Given the description of an element on the screen output the (x, y) to click on. 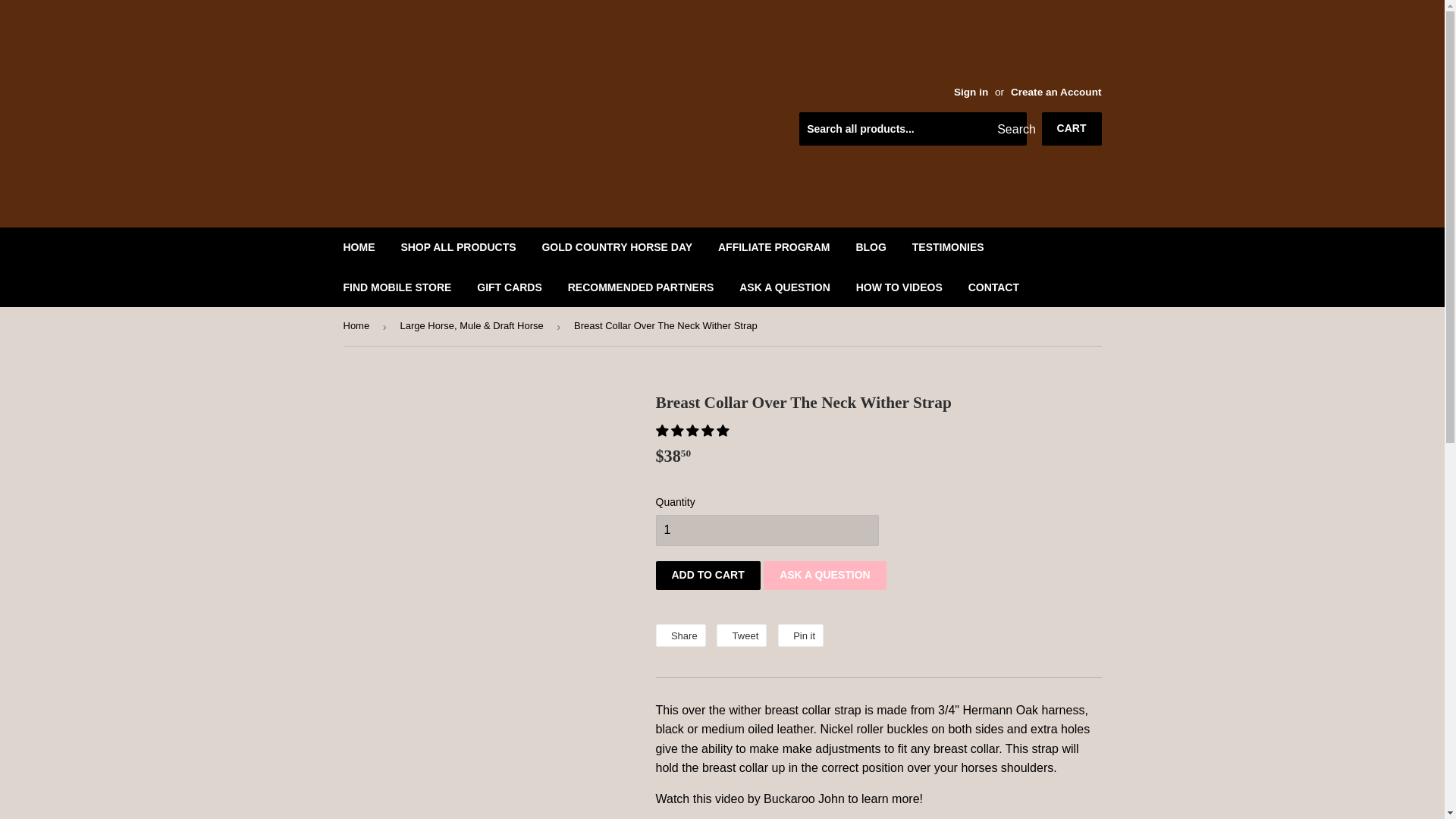
Share on Facebook (679, 635)
1 (766, 530)
Pin on Pinterest (800, 635)
Sign in (970, 91)
Tweet on Twitter (741, 635)
Search (1009, 129)
CART (1072, 128)
Create an Account (1056, 91)
